Given the description of an element on the screen output the (x, y) to click on. 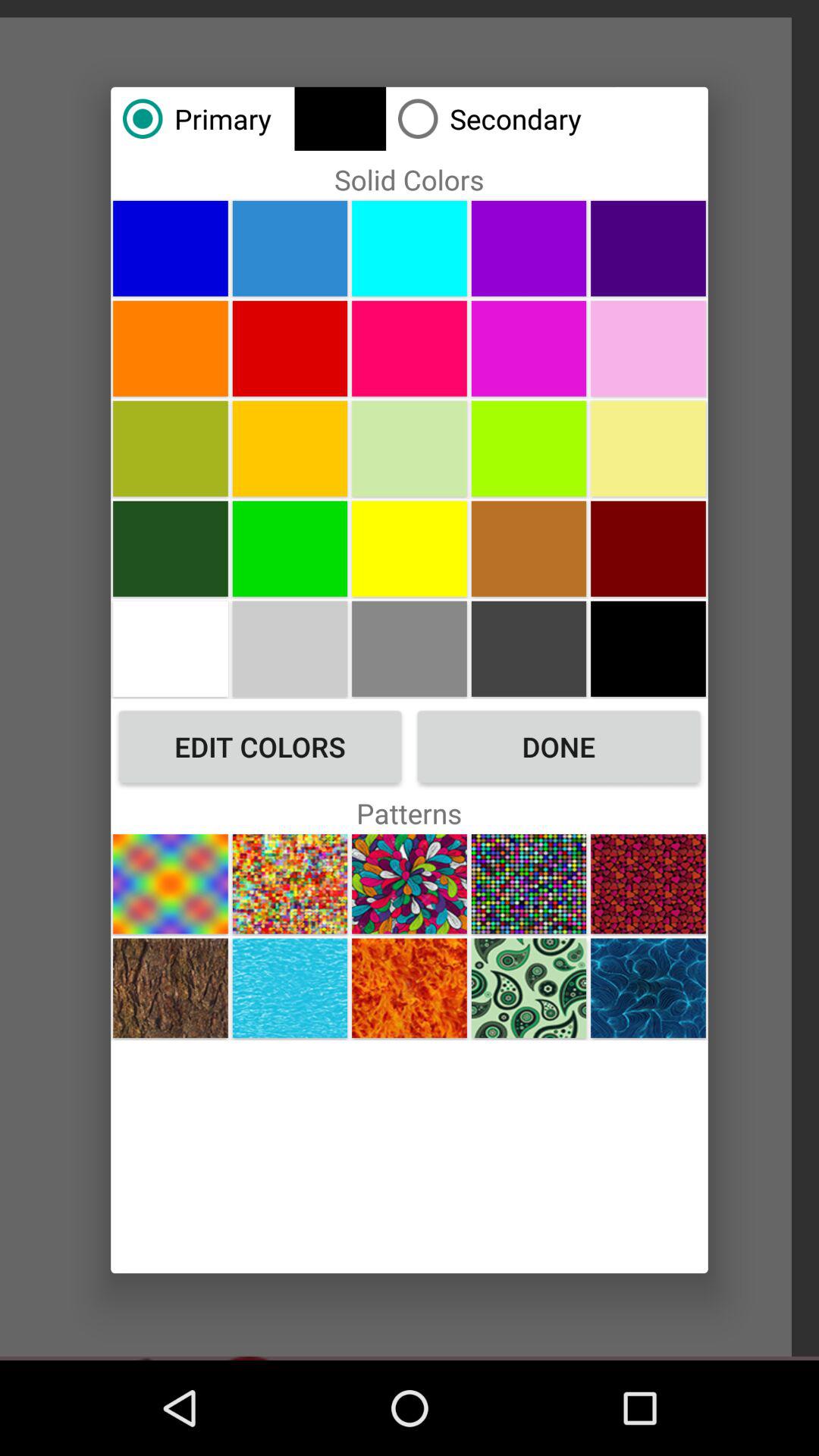
select color (647, 348)
